Given the description of an element on the screen output the (x, y) to click on. 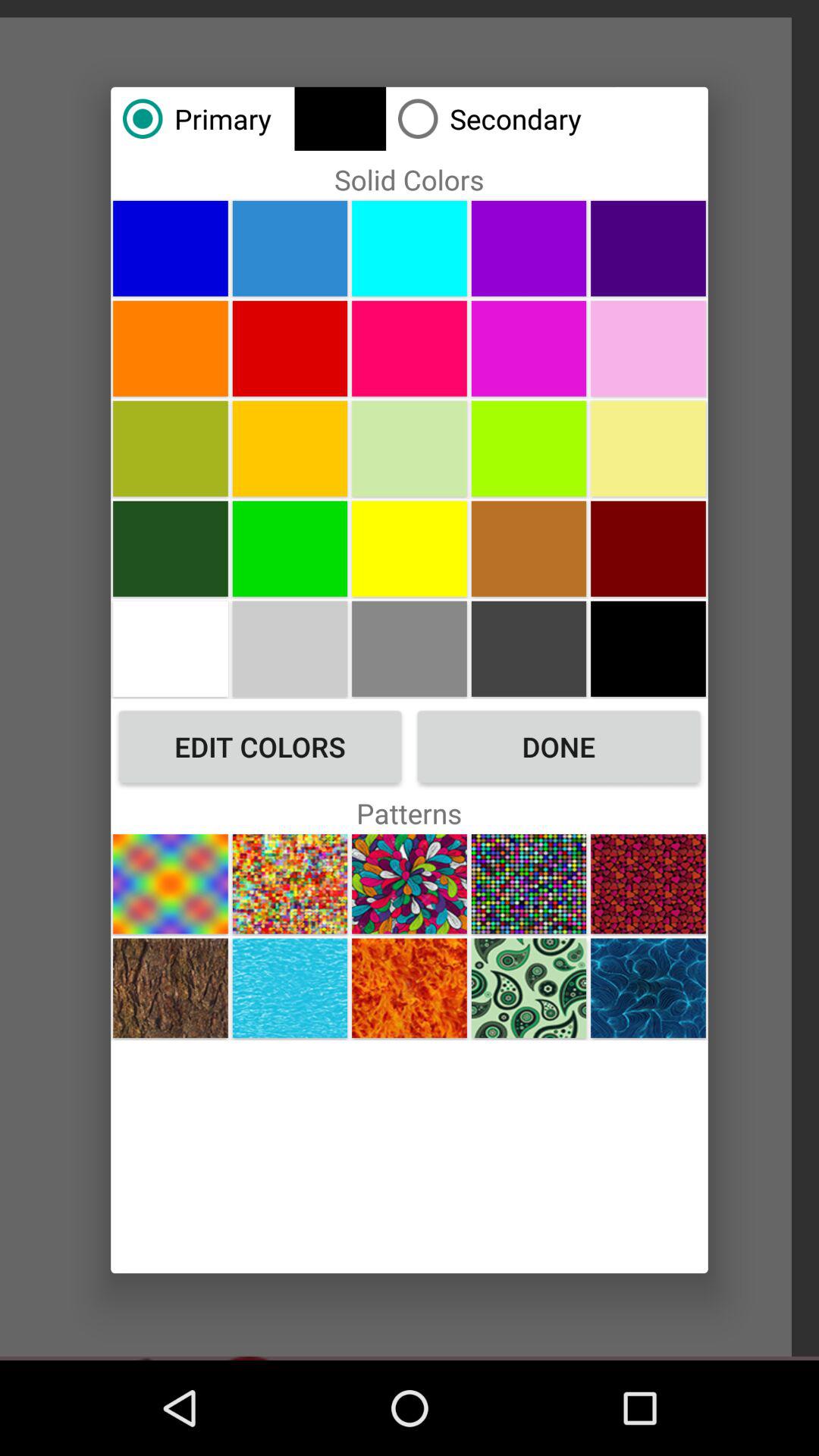
select color (647, 348)
